Given the description of an element on the screen output the (x, y) to click on. 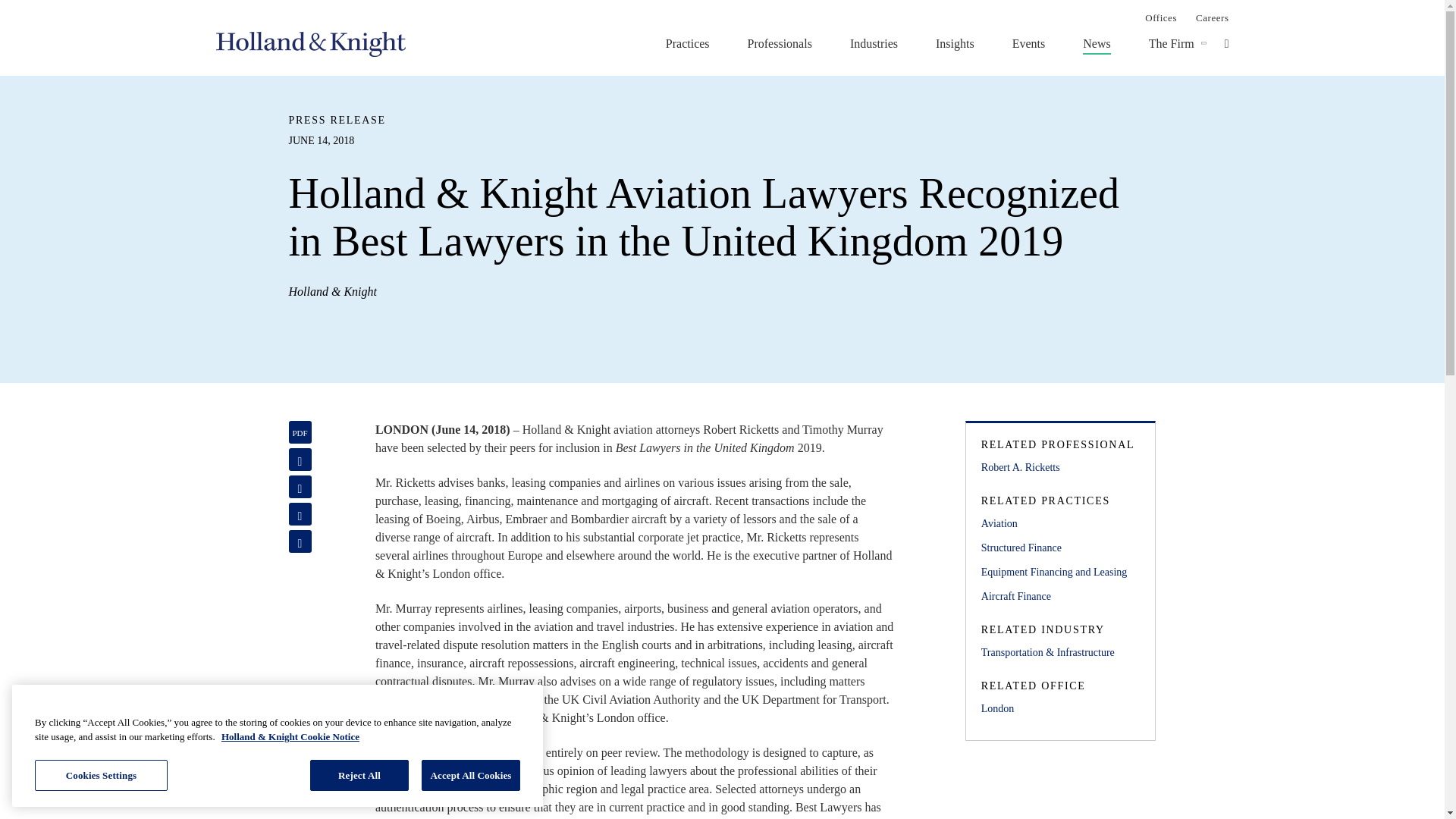
Practices (687, 42)
Careers (1211, 16)
Aviation (1060, 523)
Industries (874, 42)
Events (1028, 42)
News (1096, 42)
Offices (1160, 16)
Equipment Financing and Leasing (1060, 572)
Robert A. Ricketts (1060, 467)
Structured Finance (1060, 547)
